Given the description of an element on the screen output the (x, y) to click on. 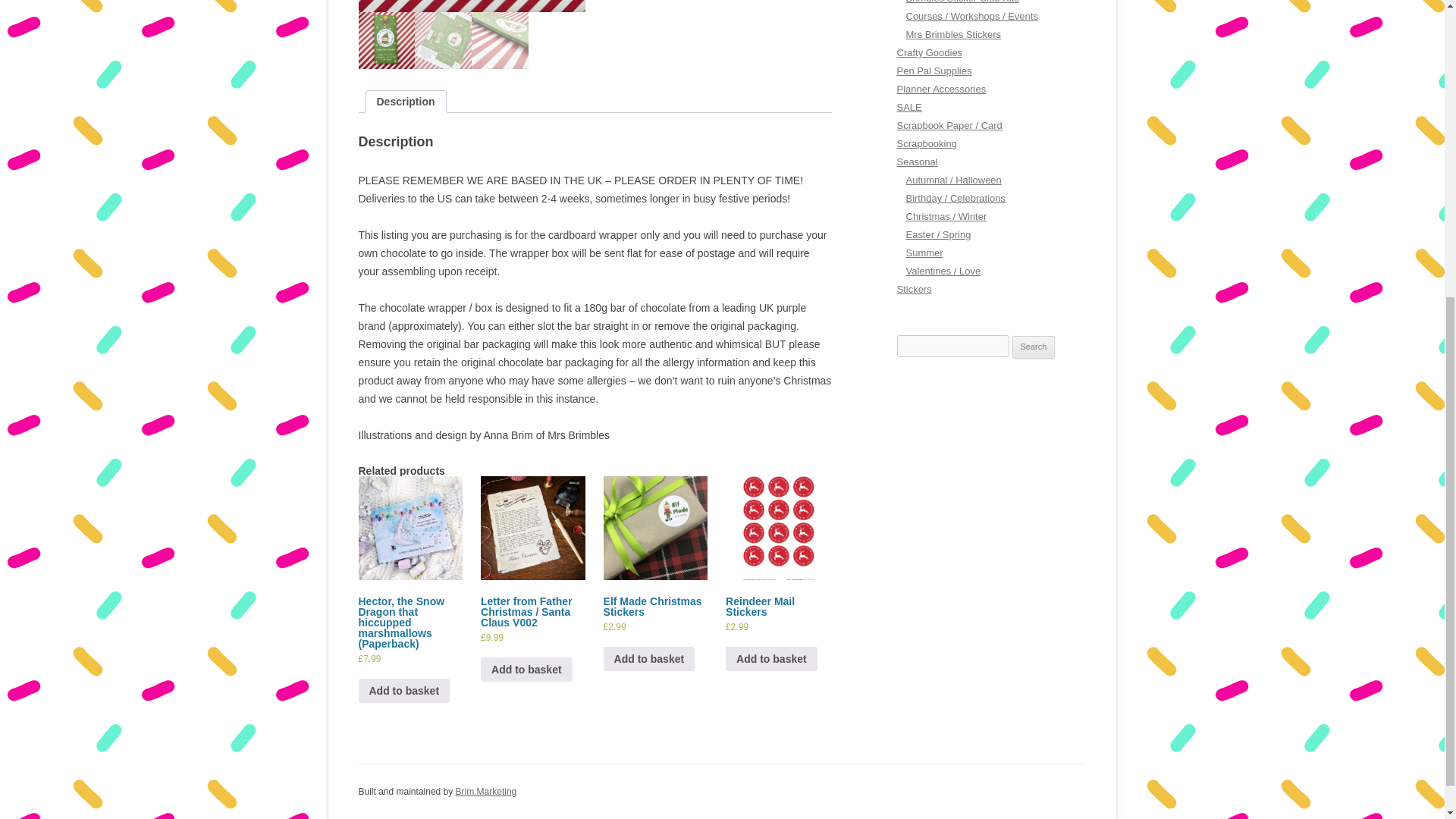
Screenshot 2023-10-02 at 14.26.12 (471, 6)
Search (1033, 346)
Add to basket (403, 689)
Description (404, 101)
Add to basket (526, 668)
Screenshot 2023-10-02 at 14.26.18 (698, 6)
Add to basket (649, 658)
